Given the description of an element on the screen output the (x, y) to click on. 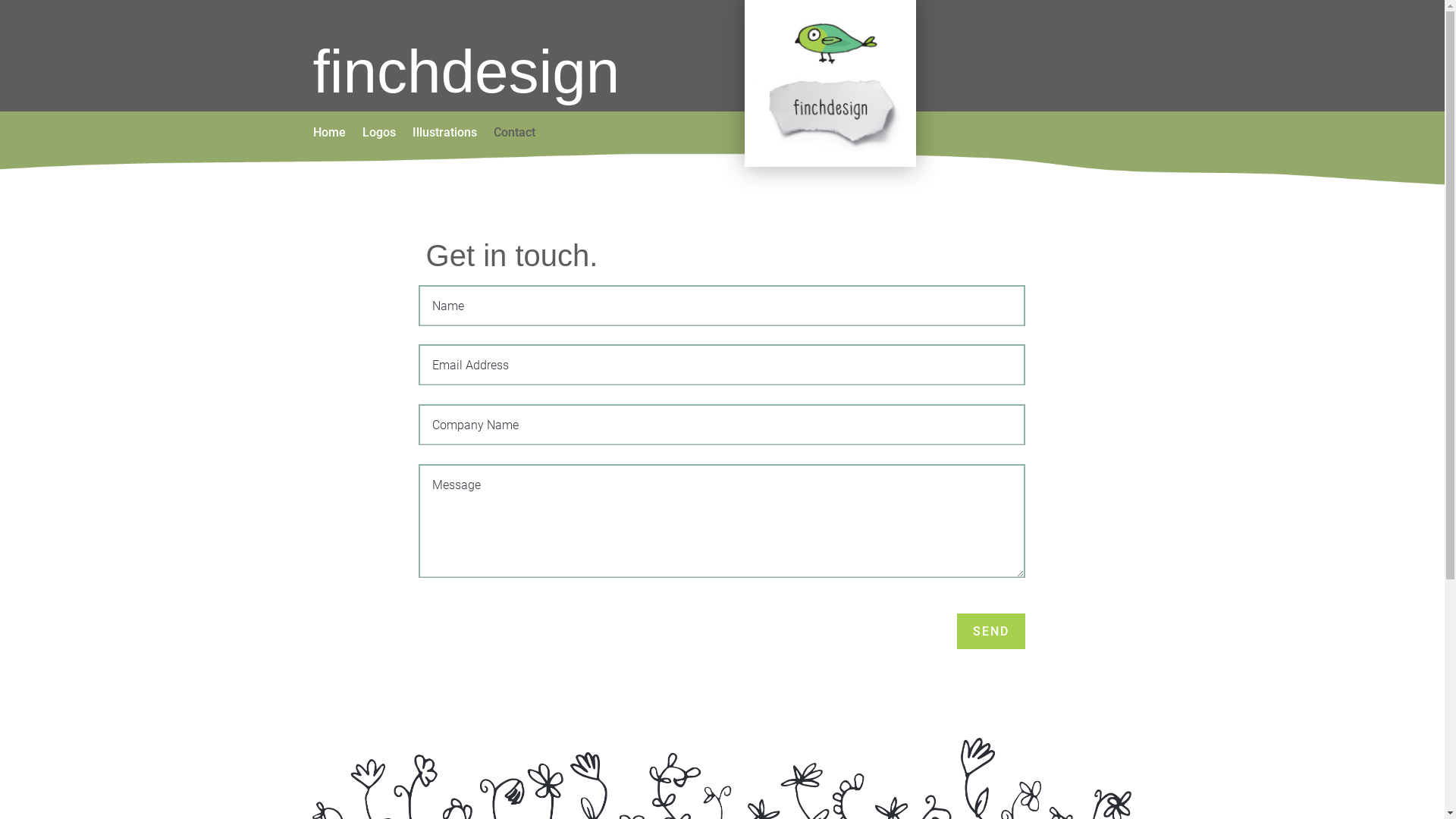
Logos Element type: text (378, 135)
Contact Element type: text (513, 135)
SEND Element type: text (991, 631)
Home Element type: text (328, 135)
Illustrations Element type: text (444, 135)
